Given the description of an element on the screen output the (x, y) to click on. 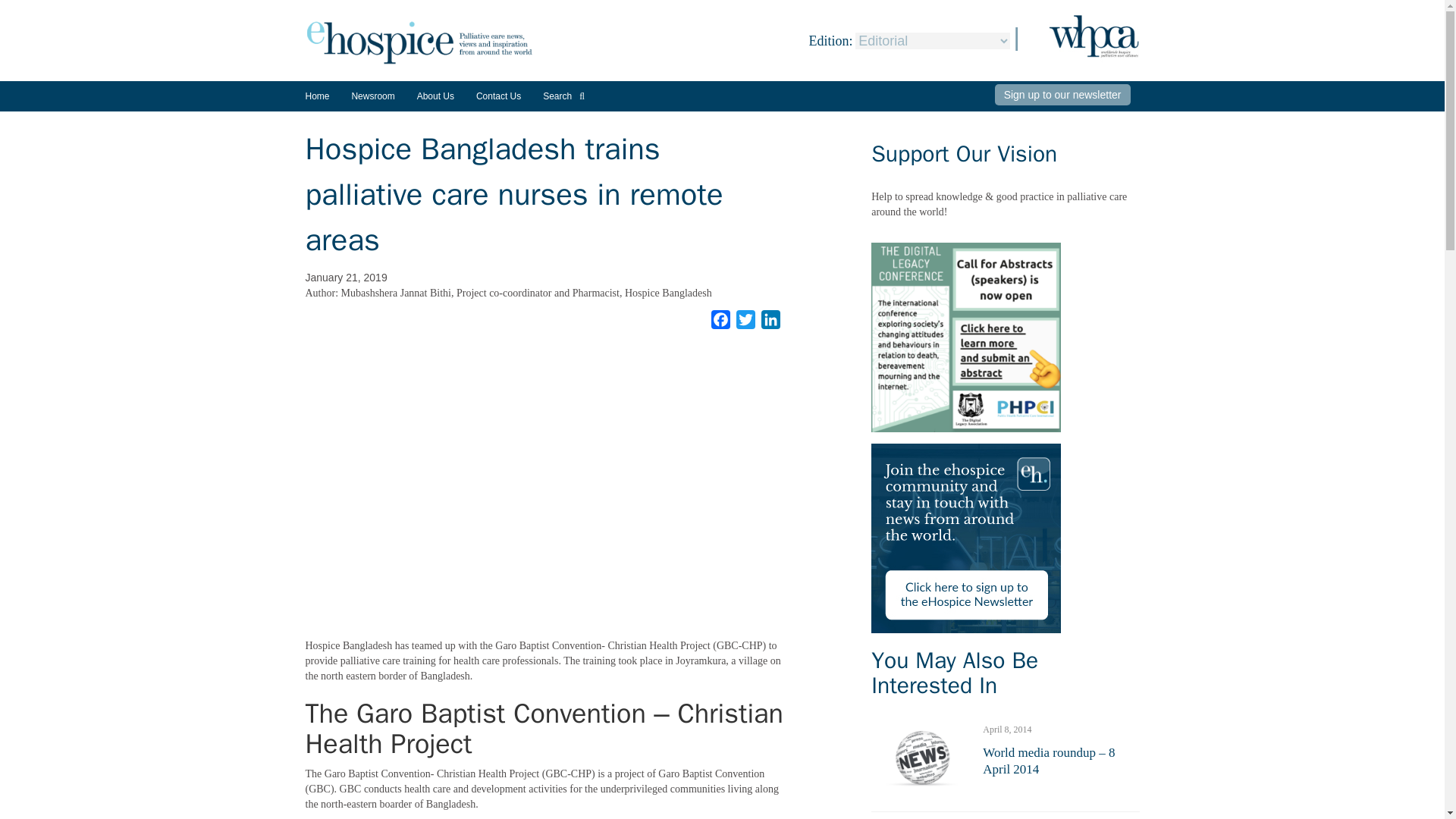
Home (316, 95)
Newsroom (372, 101)
LinkedIn (770, 320)
Facebook (720, 320)
Contact Us (498, 95)
Twitter (745, 320)
About Us (435, 95)
Search (564, 95)
Sign up to our newsletter (1062, 94)
